Given the description of an element on the screen output the (x, y) to click on. 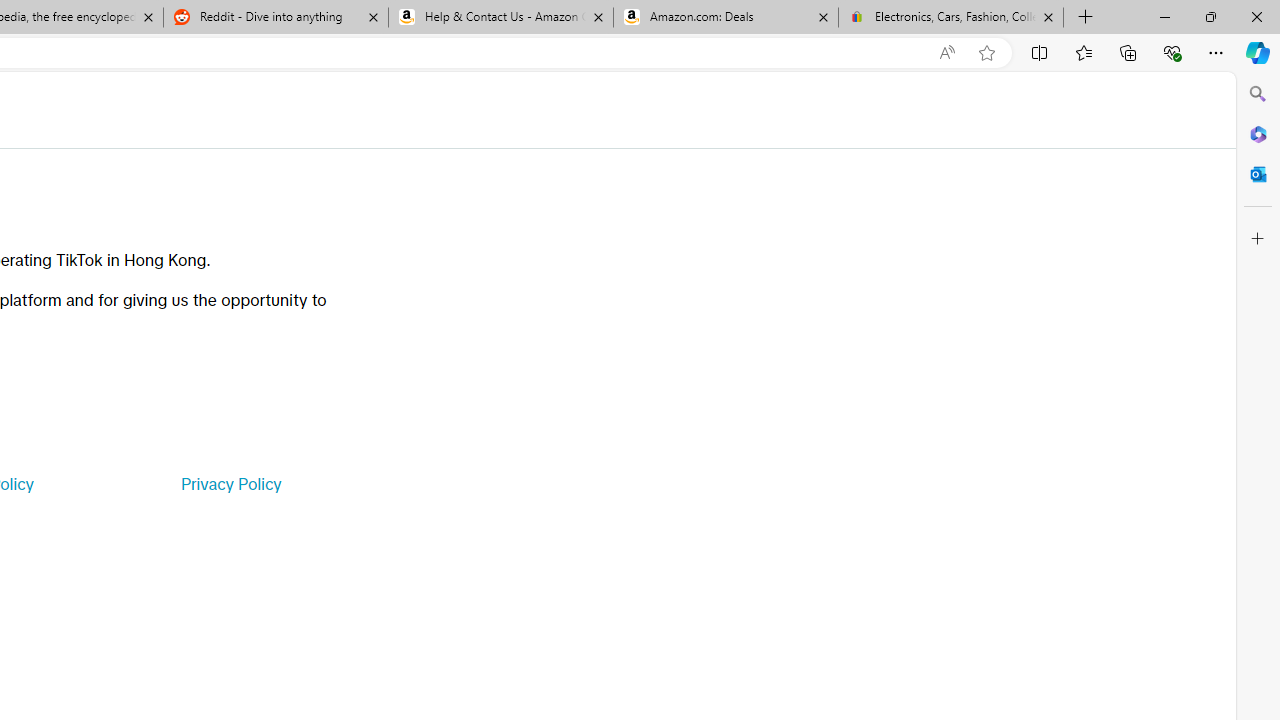
Privacy Policy (230, 484)
Amazon.com: Deals (726, 17)
